Given the description of an element on the screen output the (x, y) to click on. 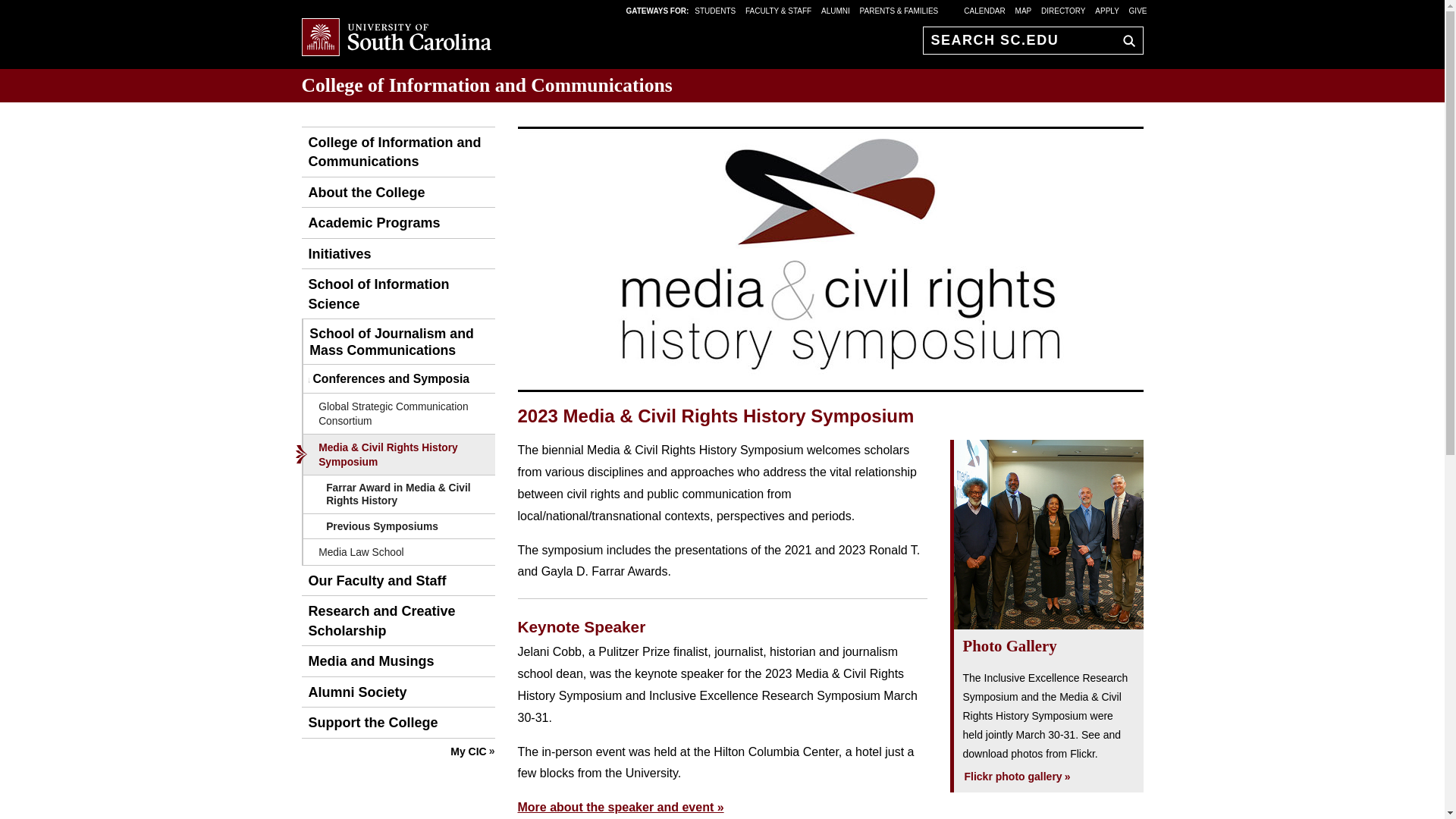
CALENDAR (983, 9)
DIRECTORY (1063, 9)
GO (1125, 40)
STUDENTS (716, 9)
sc.edu Search (1125, 40)
GO (1125, 40)
APPLY (1106, 9)
GIVE (1138, 9)
ALUMNI (835, 9)
MAP (1023, 9)
